Given the description of an element on the screen output the (x, y) to click on. 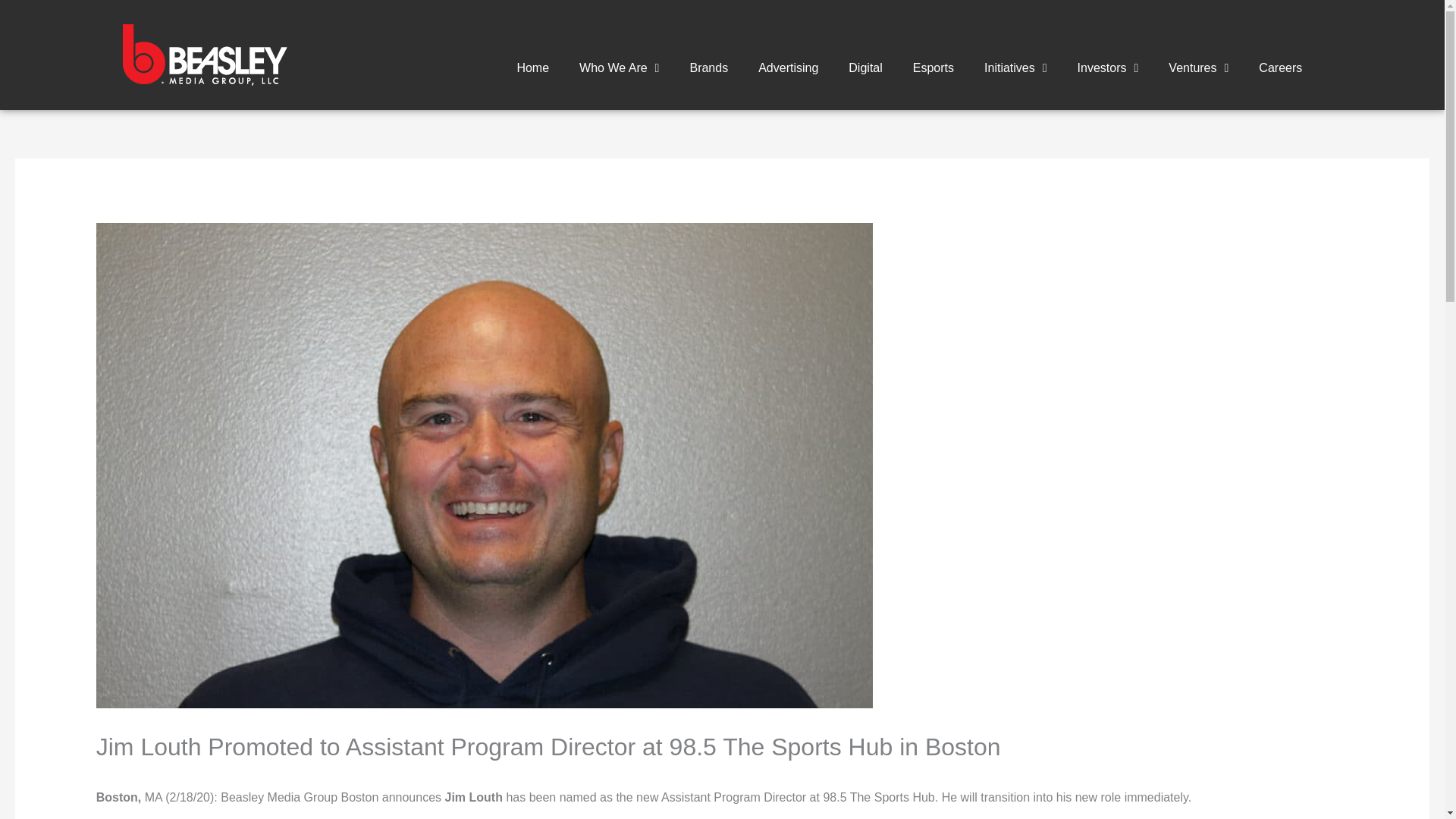
Initiatives (1015, 67)
Careers (1280, 67)
Ventures (1198, 67)
Digital (864, 67)
Brands (708, 67)
Esports (933, 67)
Home (532, 67)
Investors (1108, 67)
Advertising (787, 67)
Who We Are (619, 67)
